Given the description of an element on the screen output the (x, y) to click on. 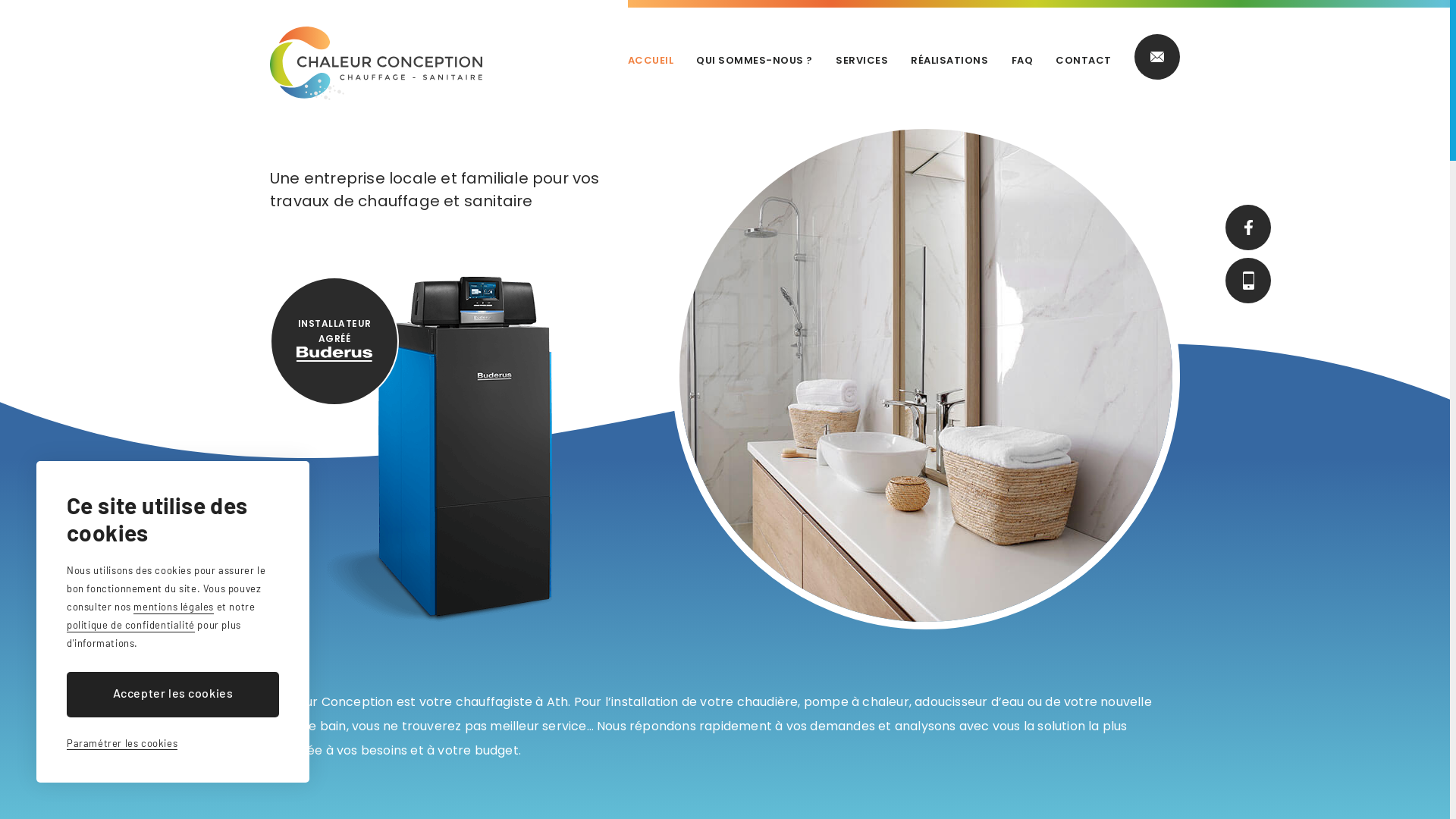
Facebook Element type: hover (1247, 227)
mail Element type: hover (1156, 56)
FAQ Element type: text (1022, 60)
ACCUEIL Element type: text (650, 60)
CONTACT Element type: text (1083, 60)
0496 76 42 60 Element type: hover (1247, 280)
Accueil Element type: hover (375, 64)
QUI SOMMES-NOUS ? Element type: text (754, 60)
SERVICES Element type: text (861, 60)
